Given the description of an element on the screen output the (x, y) to click on. 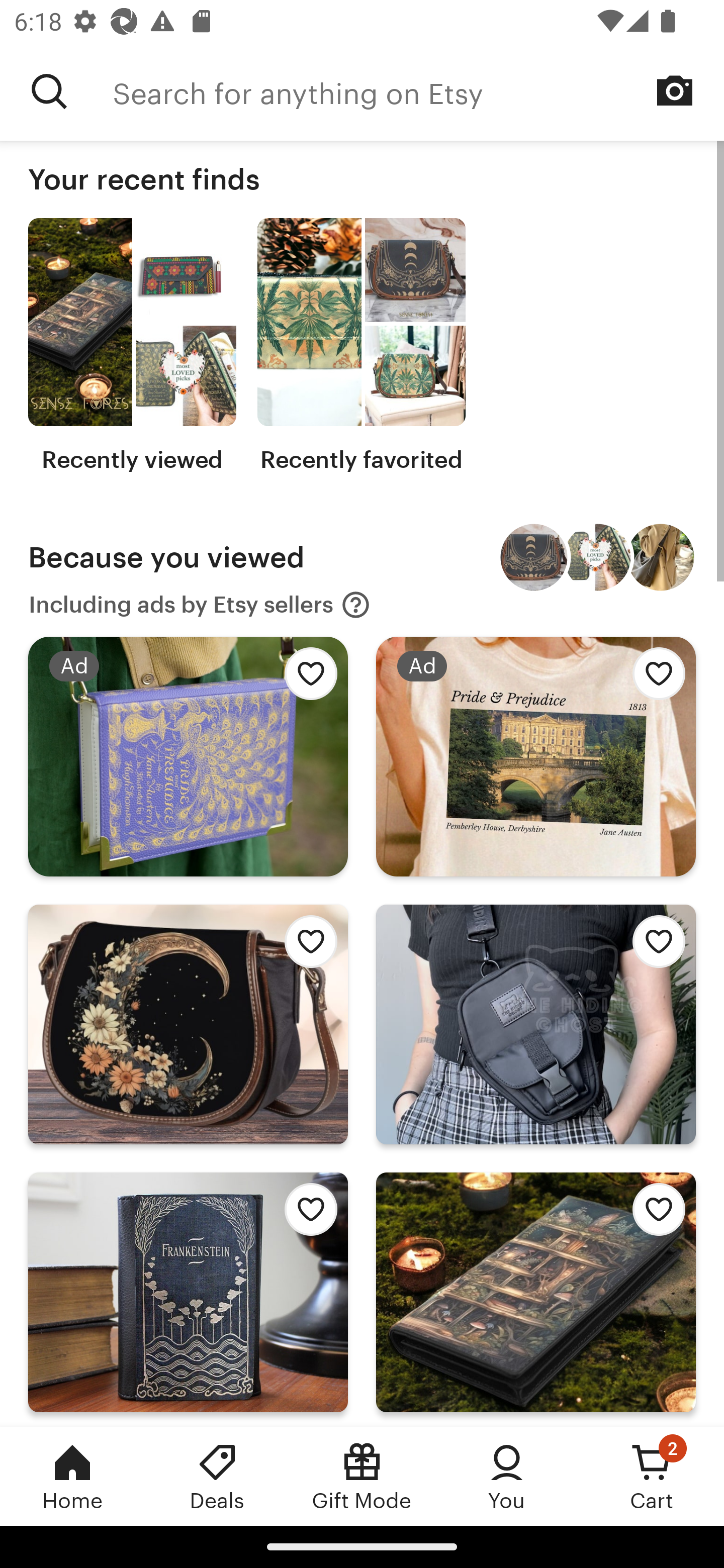
Search for anything on Etsy (49, 91)
Search by image (674, 90)
Search for anything on Etsy (418, 91)
Recently viewed (132, 345)
Recently favorited (361, 345)
Including ads by Etsy sellers (199, 604)
Deals (216, 1475)
Gift Mode (361, 1475)
You (506, 1475)
Cart, 2 new notifications Cart (651, 1475)
